Given the description of an element on the screen output the (x, y) to click on. 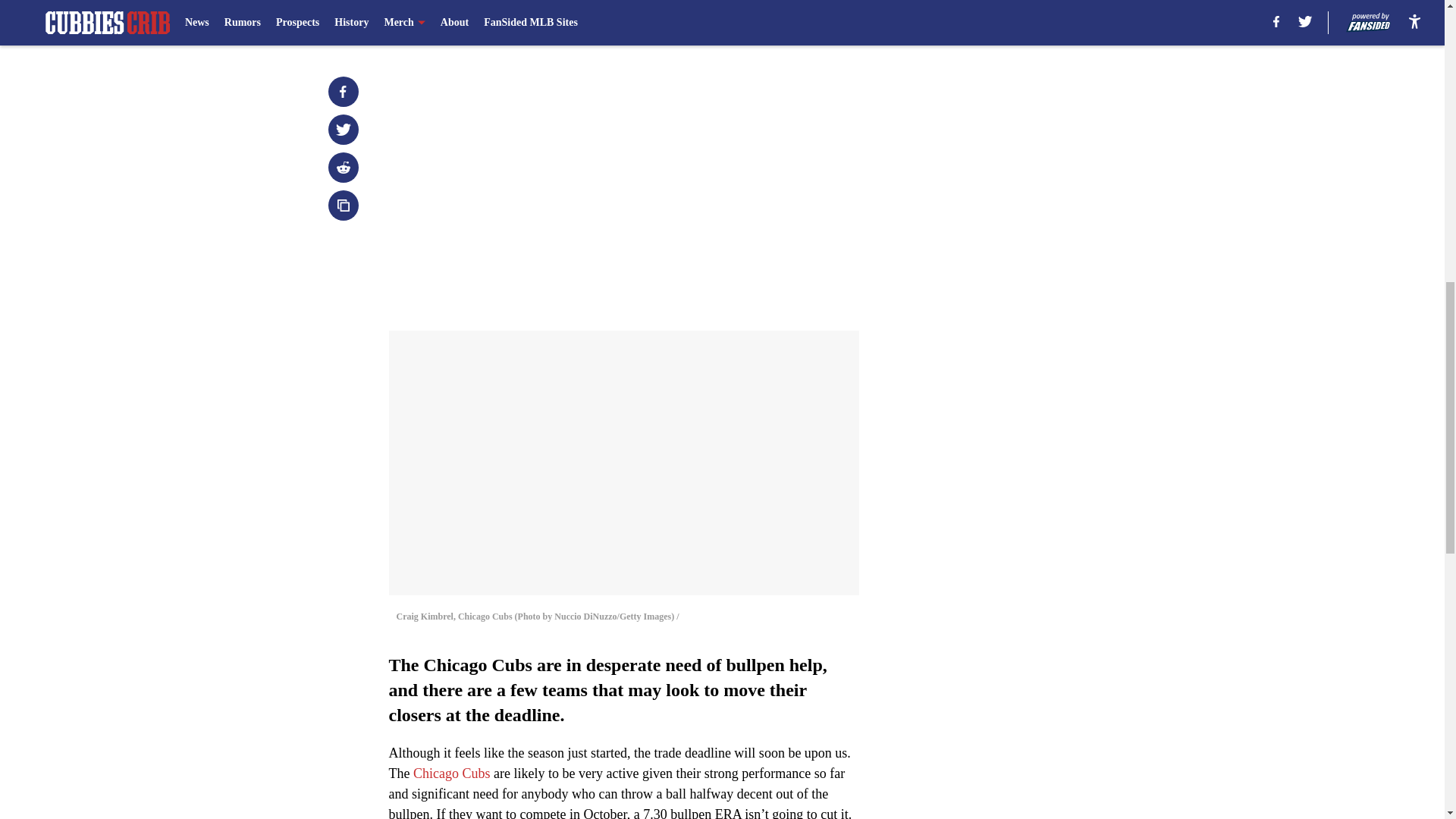
Chicago Cubs (451, 773)
Prev (433, 20)
Next (813, 20)
